Given the description of an element on the screen output the (x, y) to click on. 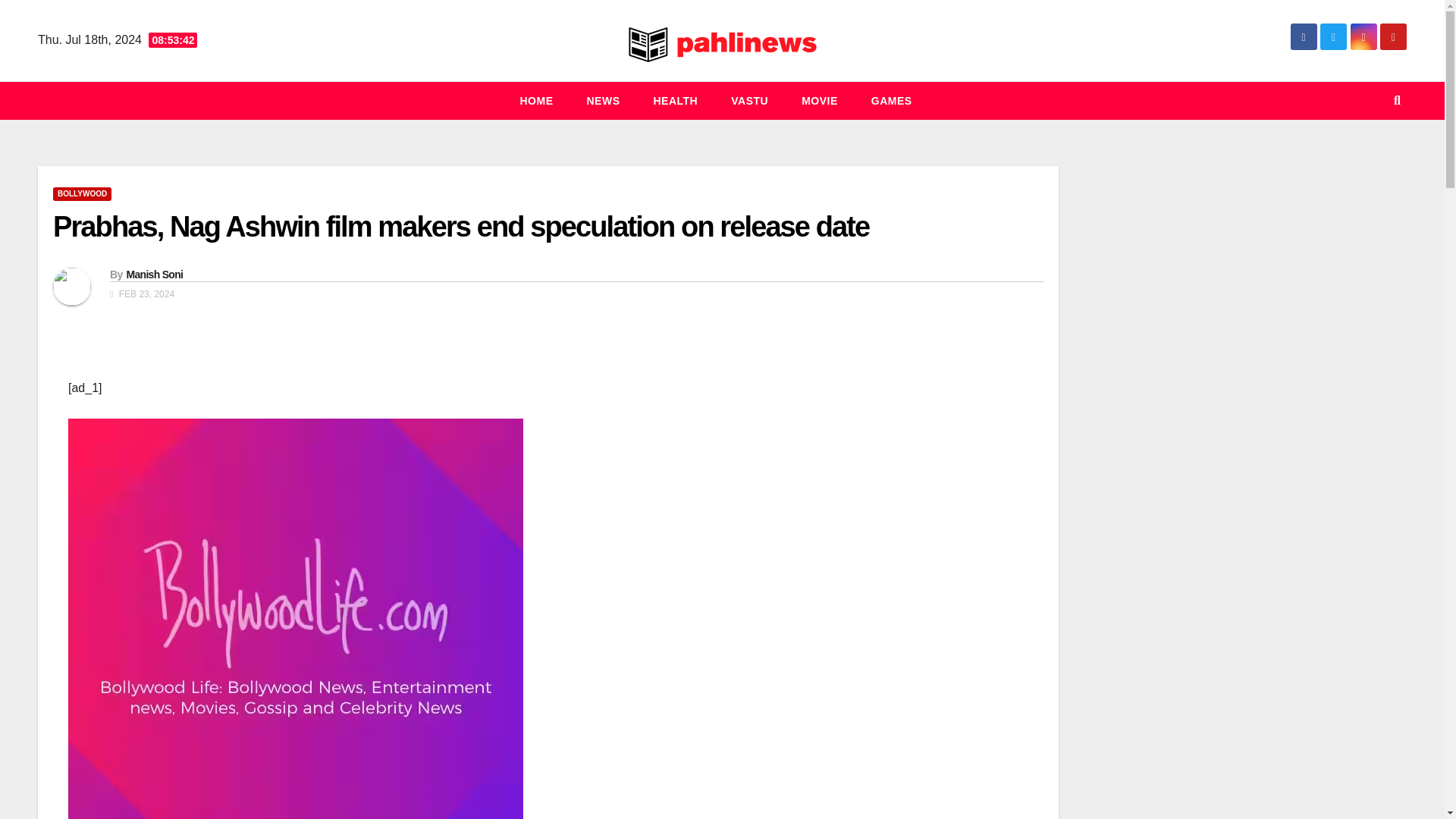
Health (675, 100)
GAMES (891, 100)
Games (891, 100)
HEALTH (675, 100)
VASTU (749, 100)
BOLLYWOOD (82, 193)
HOME (535, 100)
Home (535, 100)
NEWS (602, 100)
Manish Soni (154, 274)
MOVIE (819, 100)
Vastu (749, 100)
Movie (819, 100)
